Given the description of an element on the screen output the (x, y) to click on. 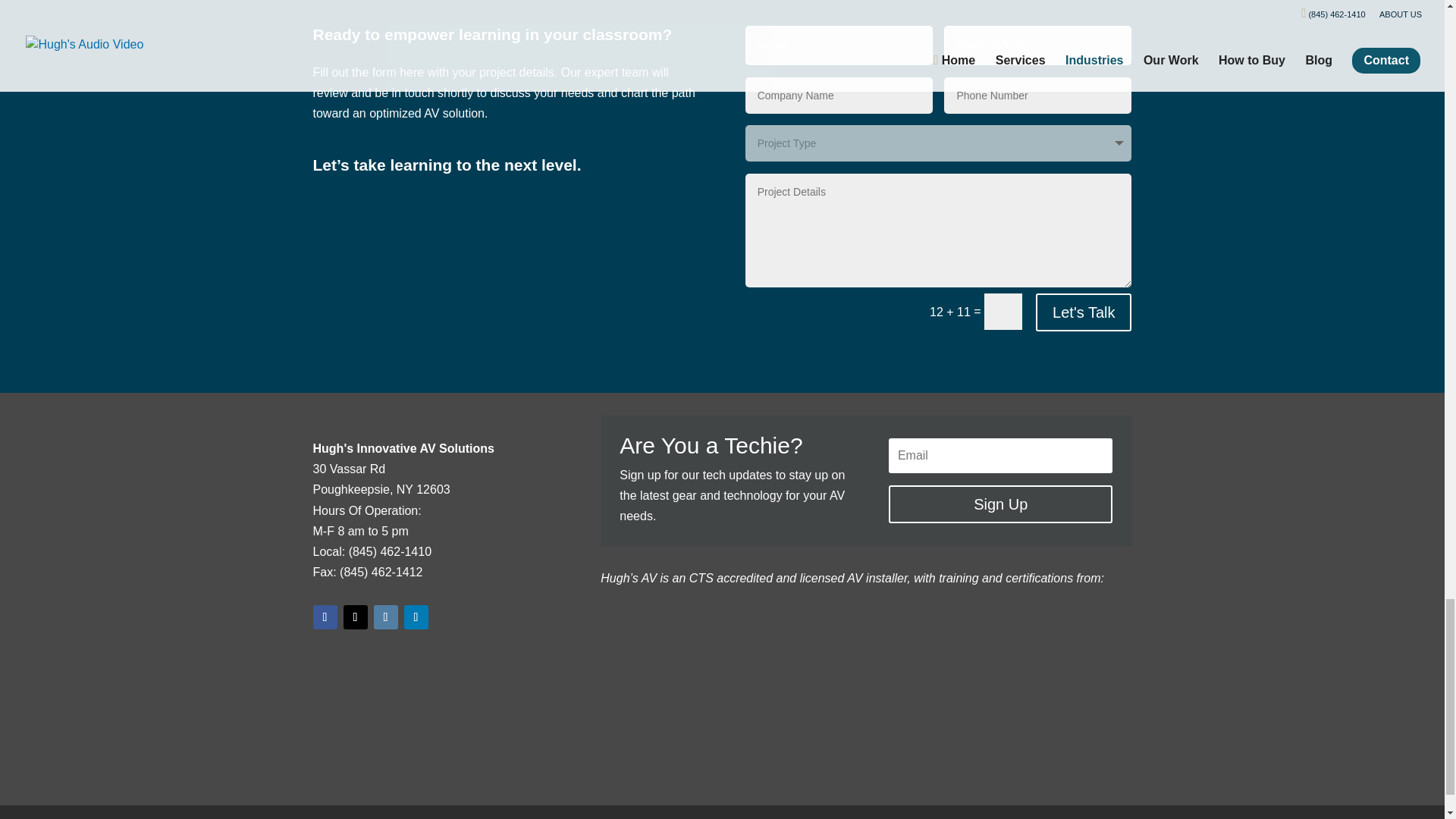
Follow on Instagram (384, 617)
Follow on Facebook (324, 617)
Follow on Twitter (354, 617)
Sign Up (1000, 504)
Let's Talk (1083, 312)
Follow on LinkedIn (415, 617)
